Given the description of an element on the screen output the (x, y) to click on. 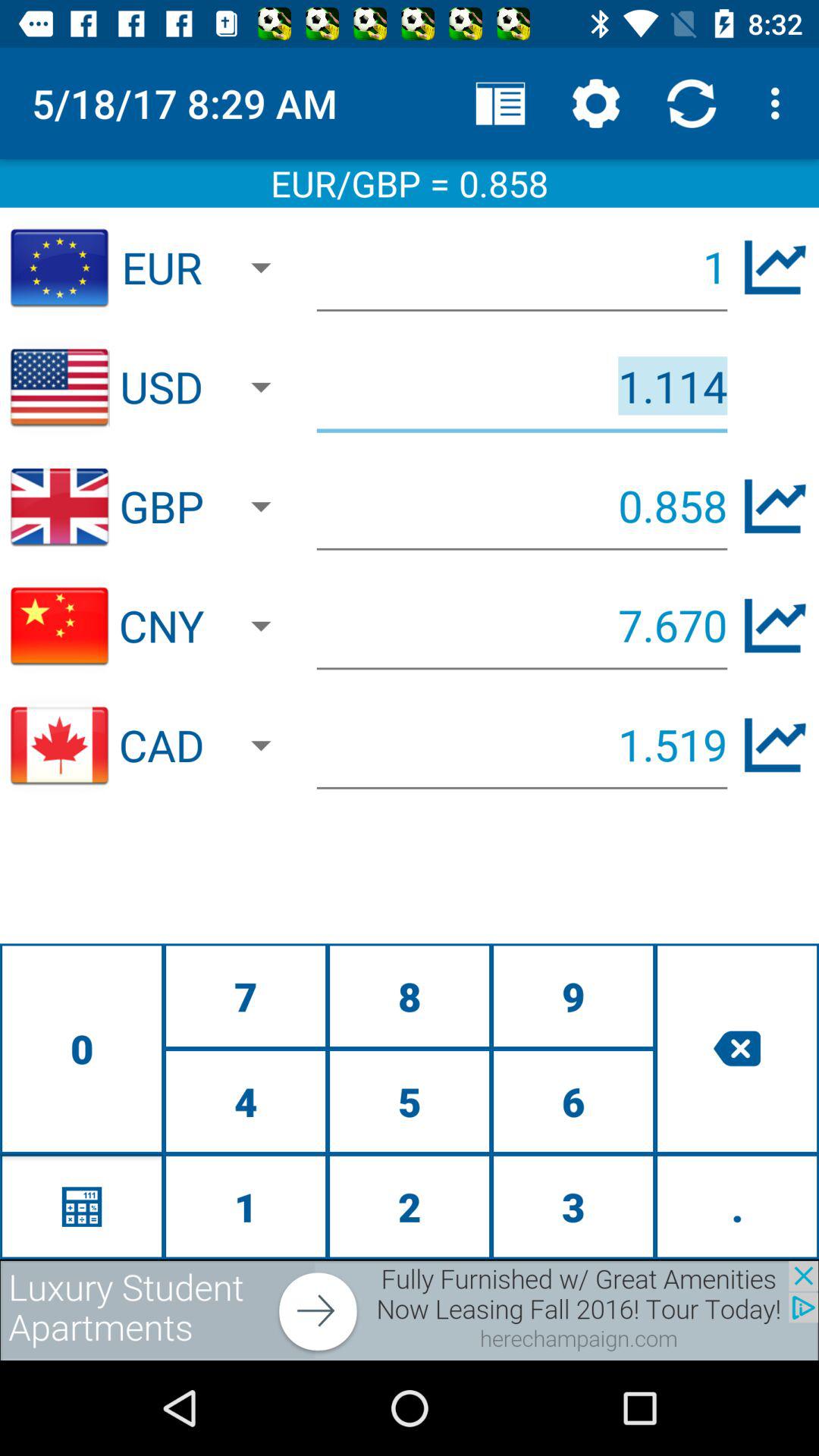
show growth of euro (775, 267)
